Given the description of an element on the screen output the (x, y) to click on. 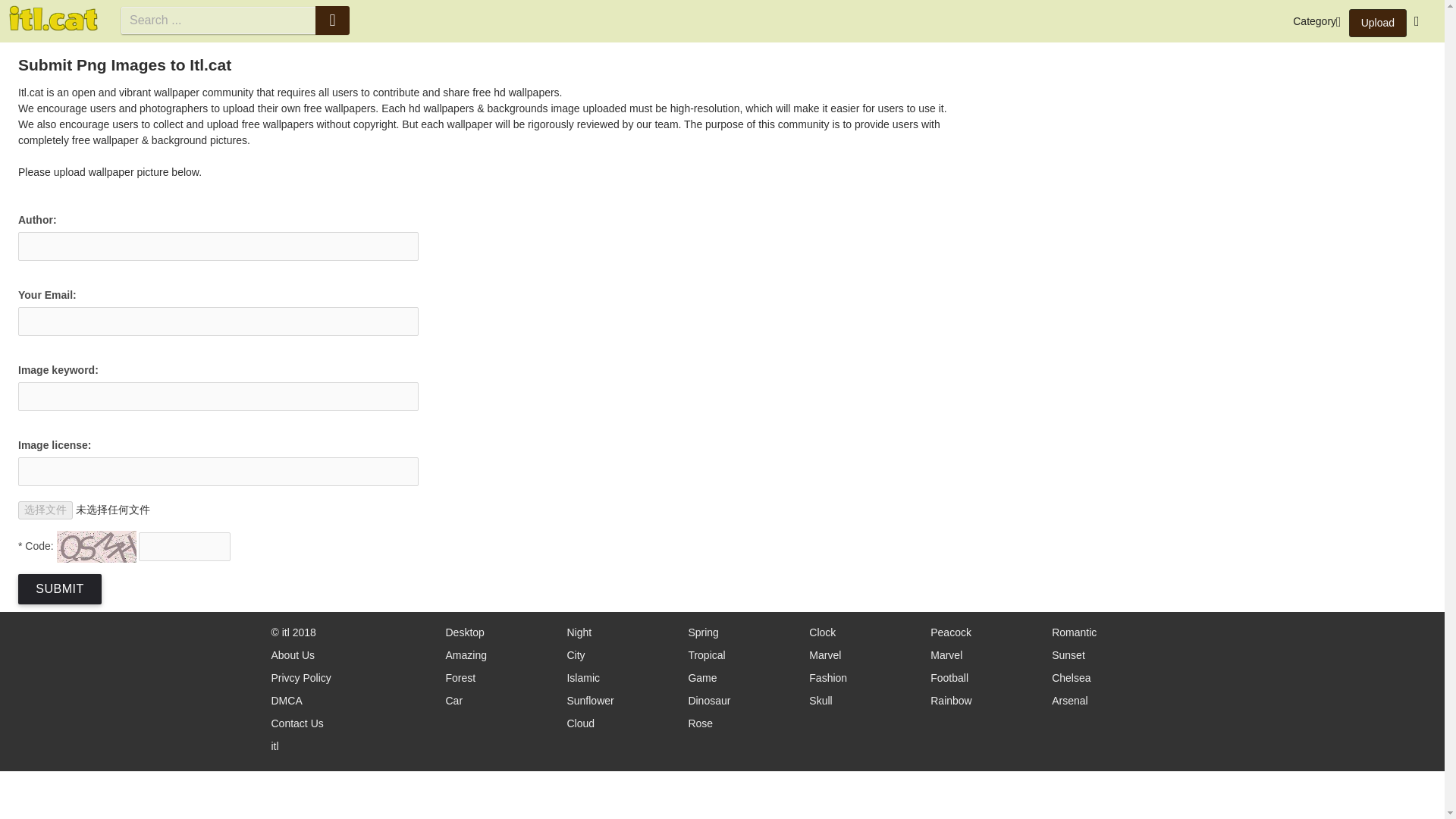
Upload (1377, 22)
Category (1316, 21)
About Us (292, 655)
Privcy Policy (300, 678)
SUBMIT (59, 588)
